Given the description of an element on the screen output the (x, y) to click on. 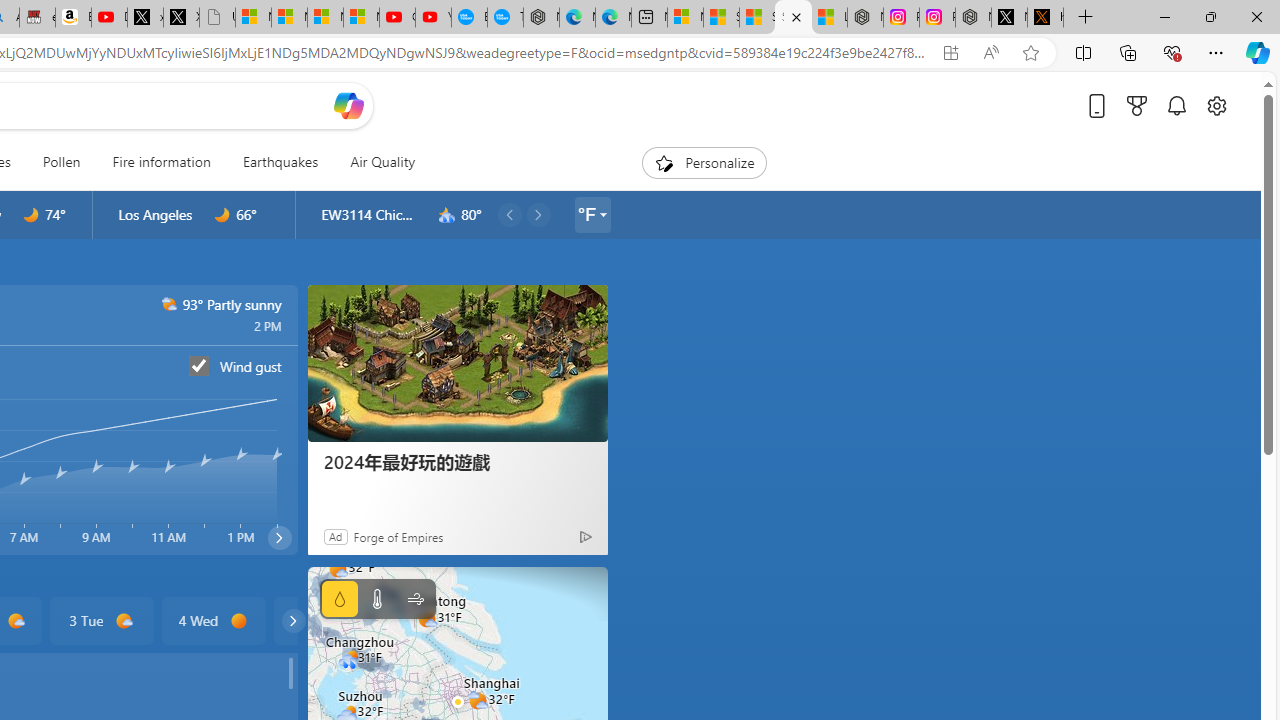
Personalize (703, 162)
Air Quality (382, 162)
Pollen (61, 162)
